Given the description of an element on the screen output the (x, y) to click on. 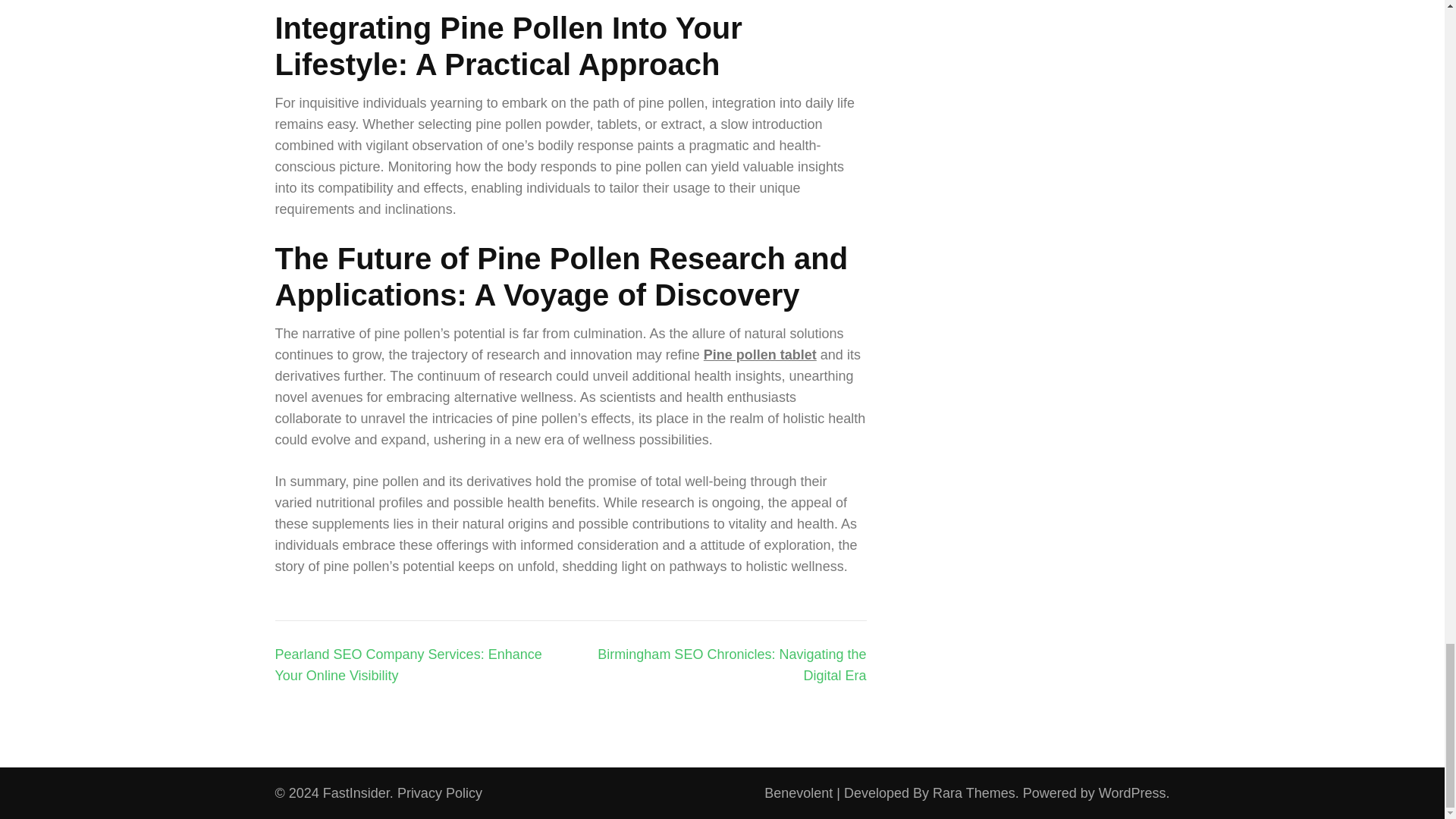
Pine pollen tablet (759, 354)
Birmingham SEO Chronicles: Navigating the Digital Era (731, 665)
